Given the description of an element on the screen output the (x, y) to click on. 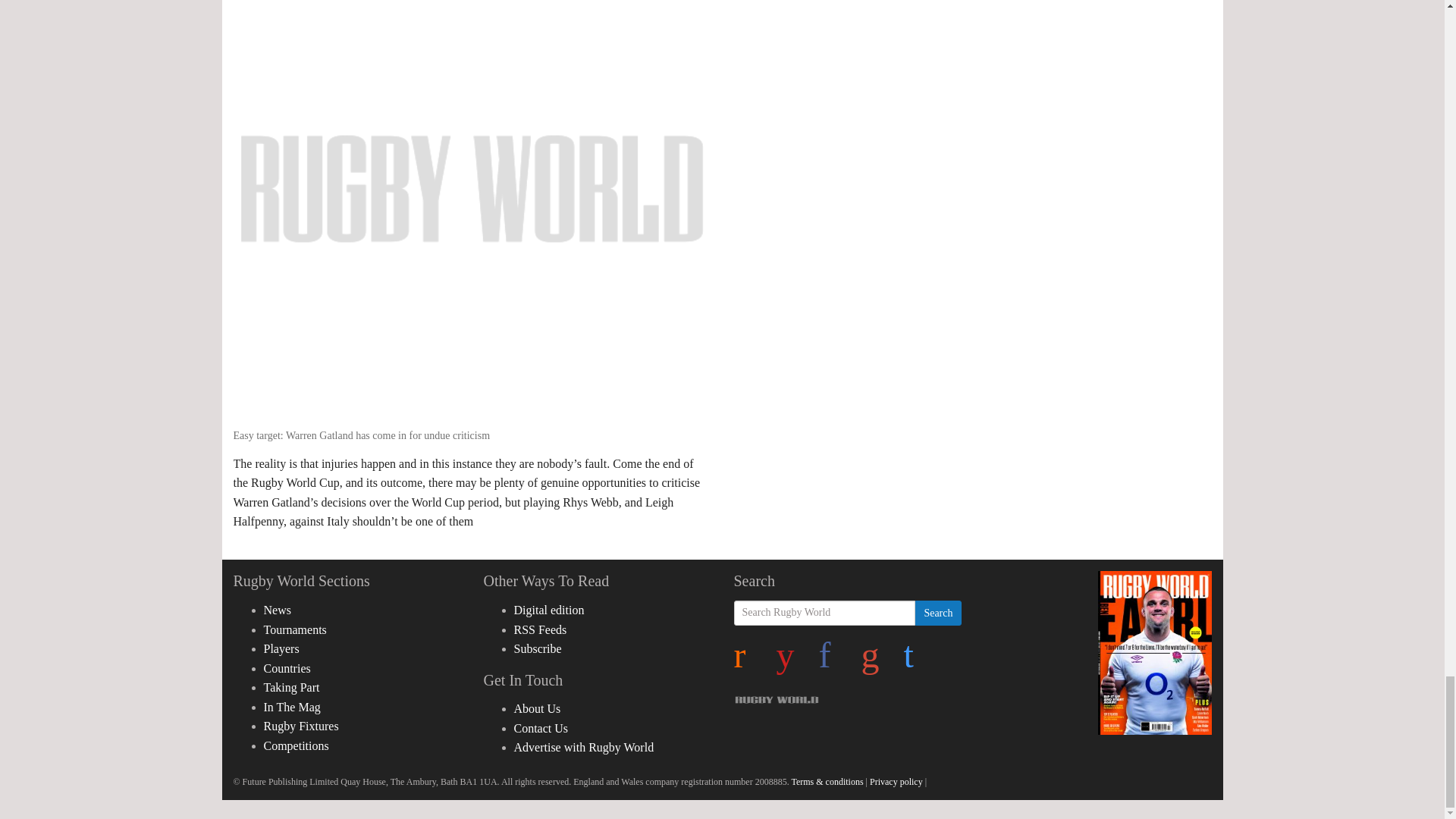
Latest Issue of Rugby World (1154, 651)
